Given the description of an element on the screen output the (x, y) to click on. 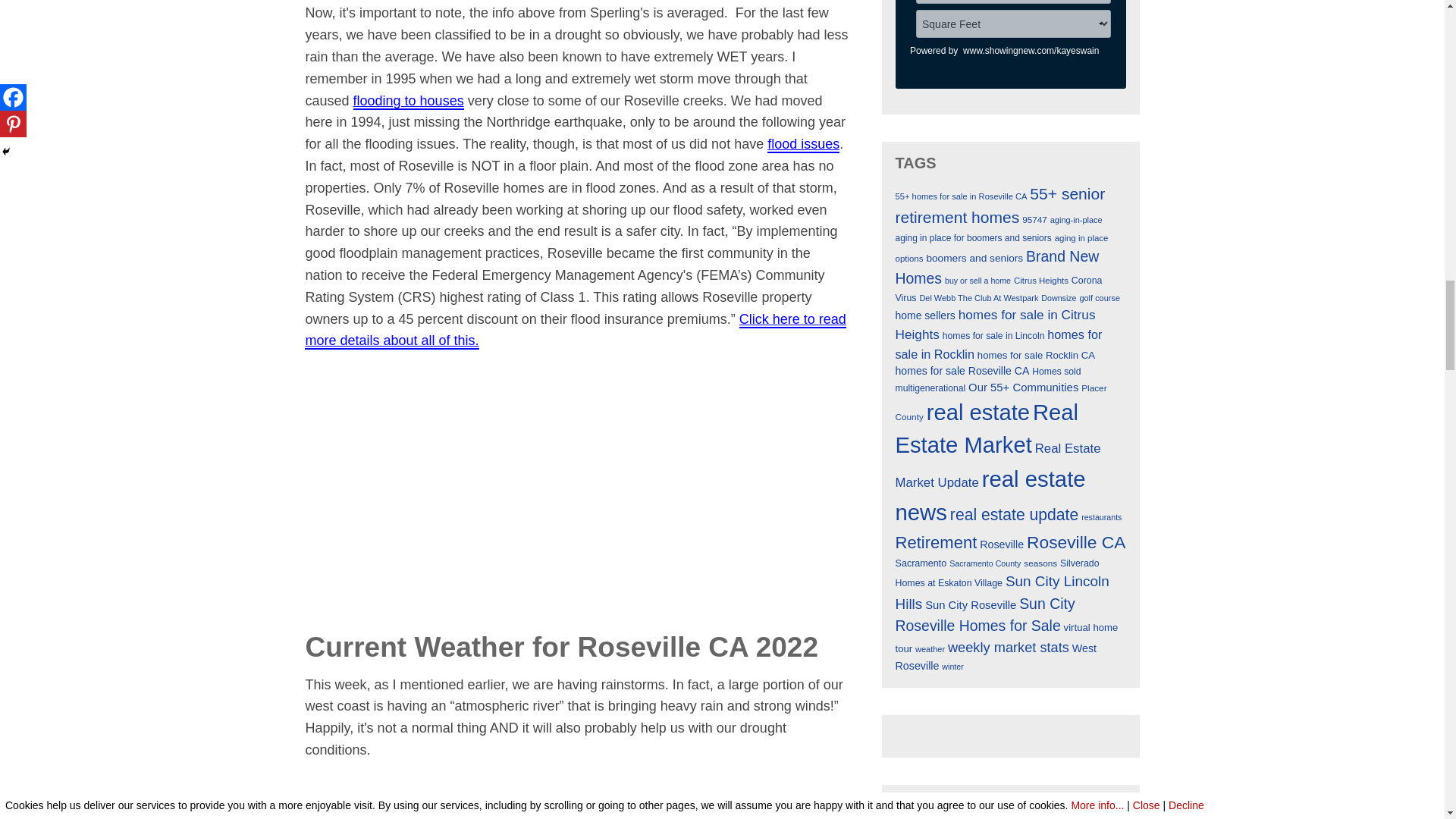
flooding to houses (408, 101)
flood issues (803, 144)
YouTube video player (577, 486)
YouTube video player (577, 797)
